Given the description of an element on the screen output the (x, y) to click on. 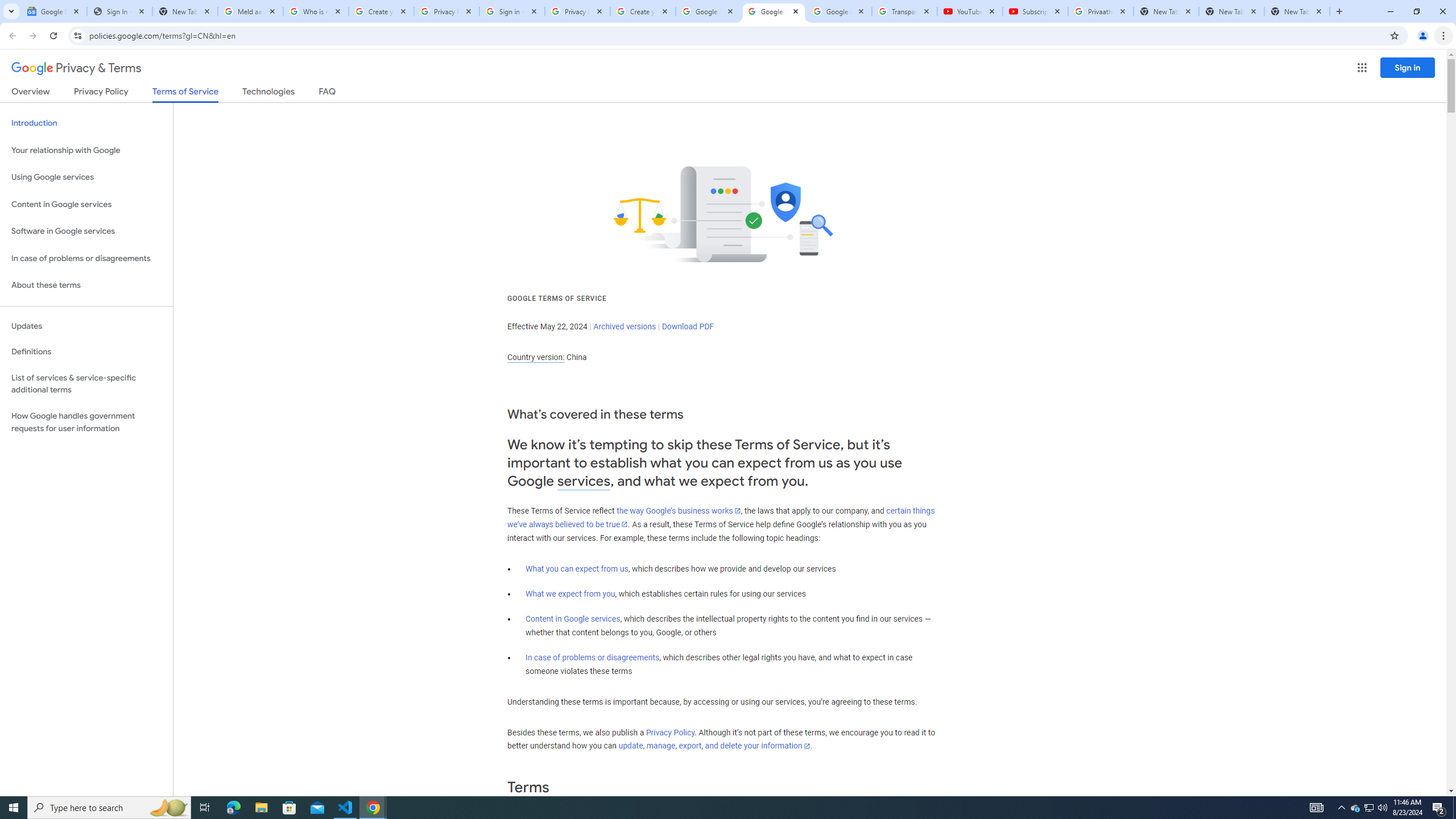
What you can expect from us (576, 568)
Software in Google services (86, 230)
Sign in - Google Accounts (512, 11)
Your relationship with Google (86, 150)
